Given the description of an element on the screen output the (x, y) to click on. 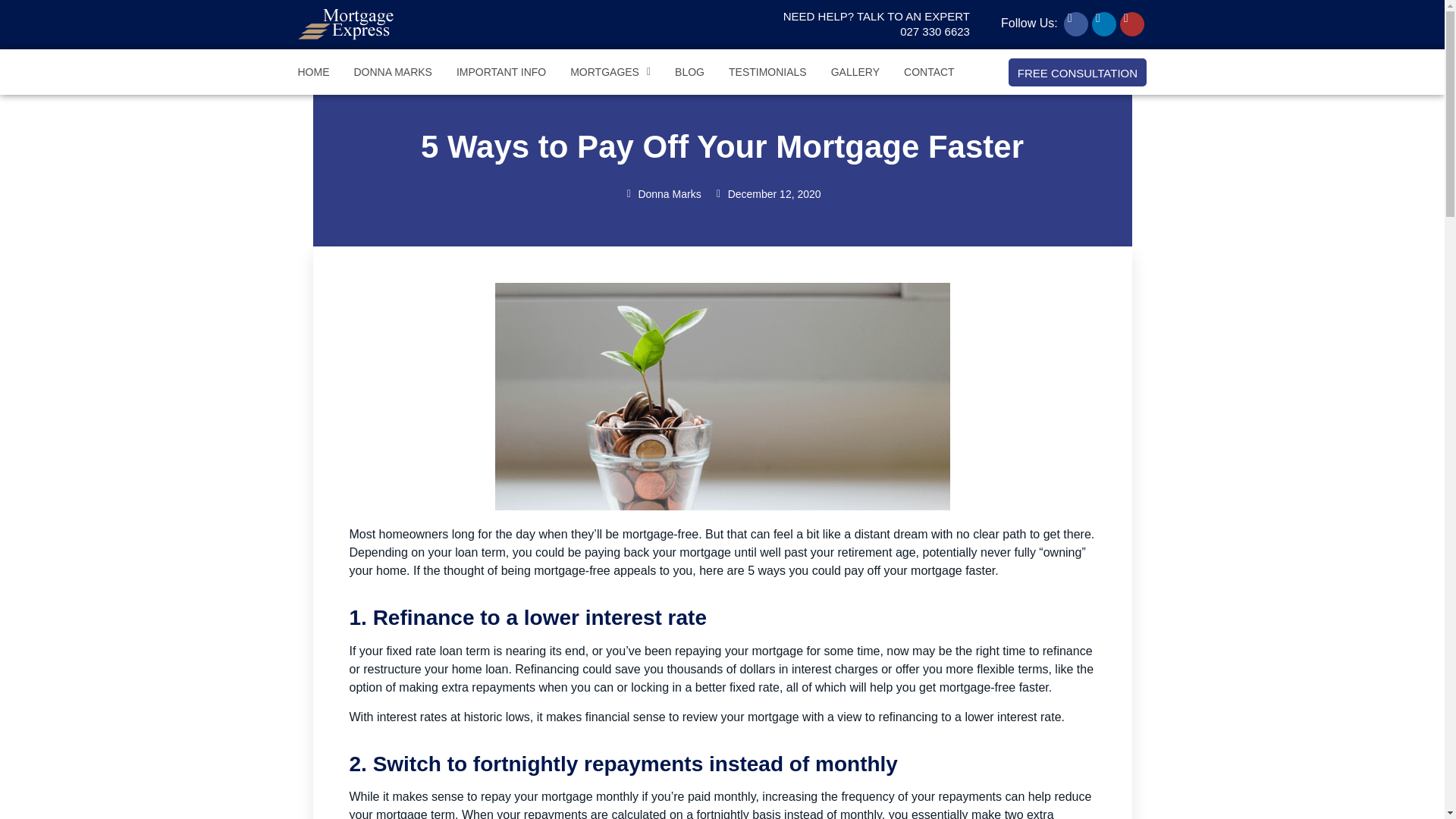
CONTACT (876, 23)
MORTGAGES (929, 71)
GALLERY (610, 71)
DONNA MARKS (855, 71)
IMPORTANT INFO (391, 71)
FREE CONSULTATION (501, 71)
TESTIMONIALS (1078, 71)
